Given the description of an element on the screen output the (x, y) to click on. 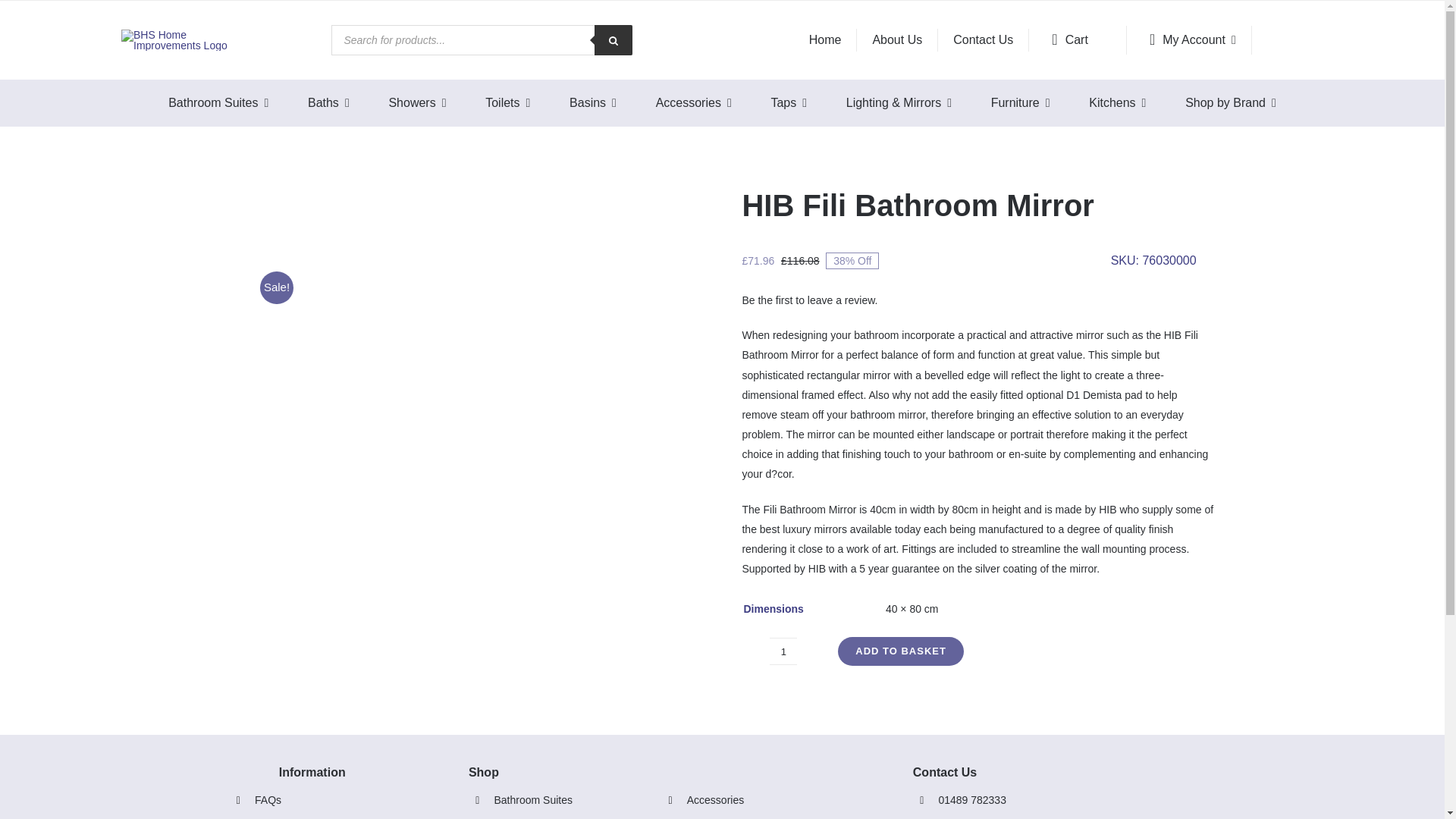
Log In (1265, 185)
Home (825, 39)
Contact Us (983, 39)
1 (783, 651)
Cart (1077, 39)
About Us (897, 39)
My Account (1189, 39)
